Given the description of an element on the screen output the (x, y) to click on. 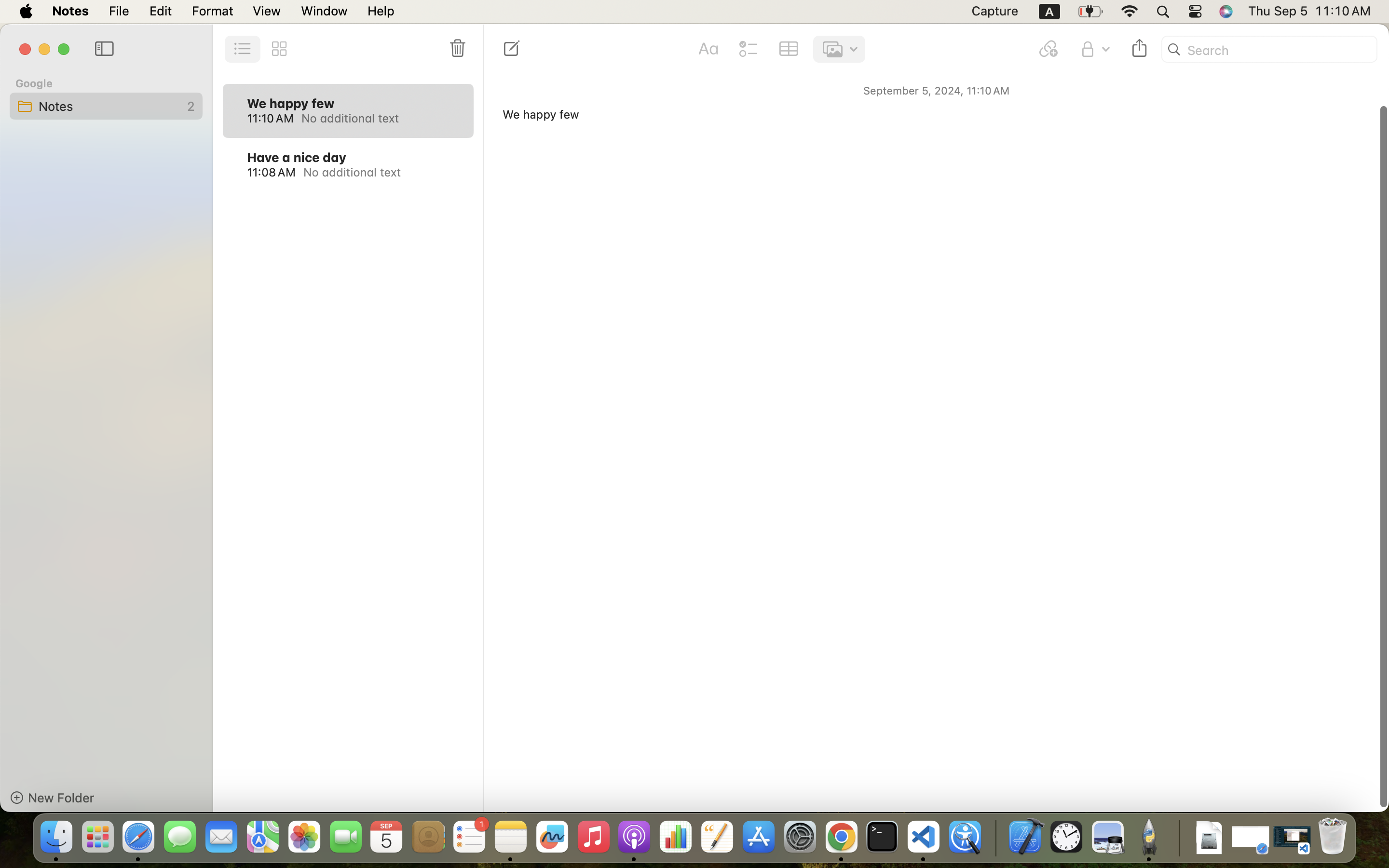
<AXUIElement 0x10fdc7460> {pid=1298} Element type: AXRadioGroup (260, 48)
Notes Element type: AXStaticText (105, 105)
11:10 AM Element type: AXStaticText (270, 117)
2 Element type: AXStaticText (185, 105)
